Given the description of an element on the screen output the (x, y) to click on. 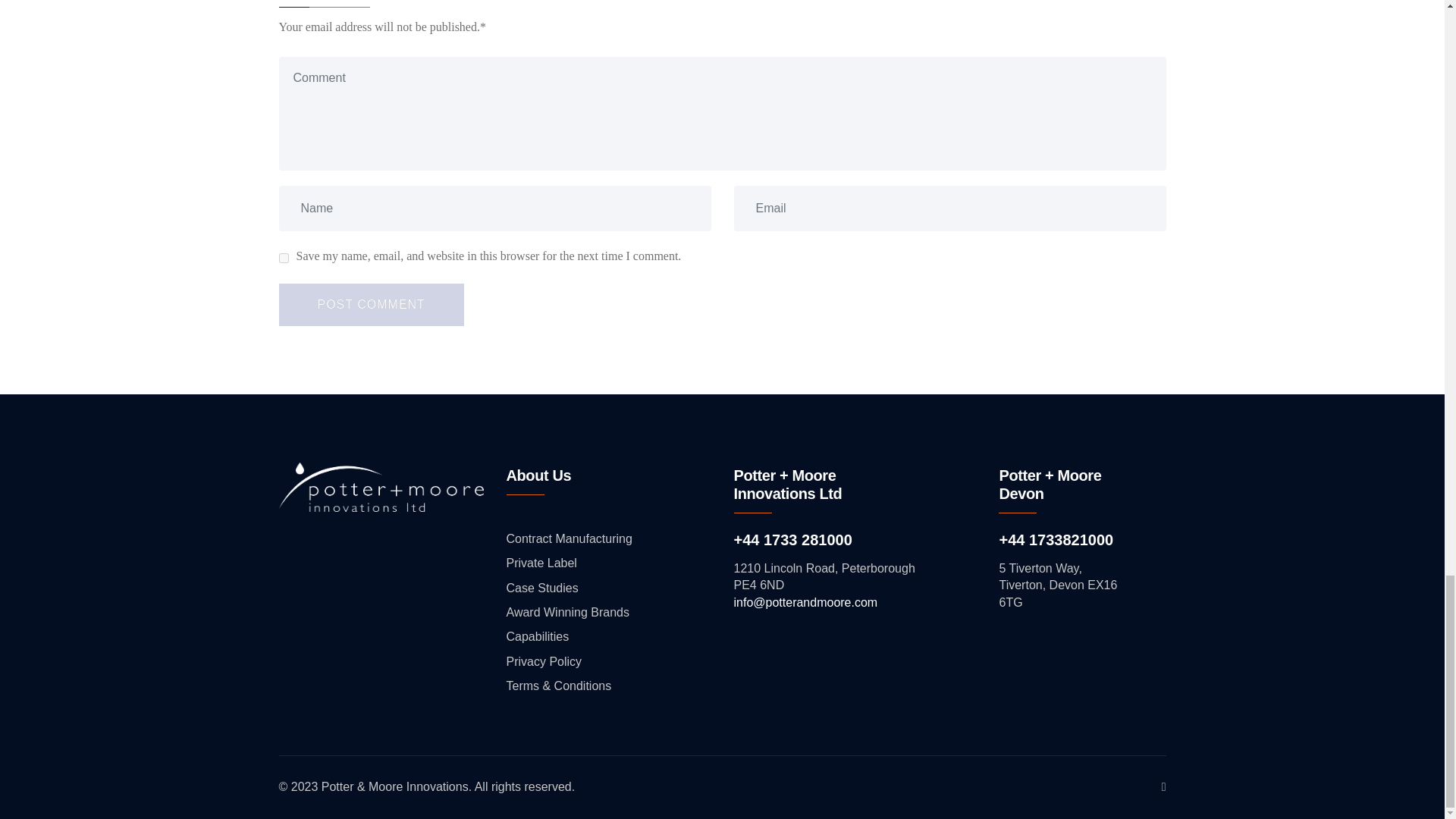
yes (283, 257)
